Given the description of an element on the screen output the (x, y) to click on. 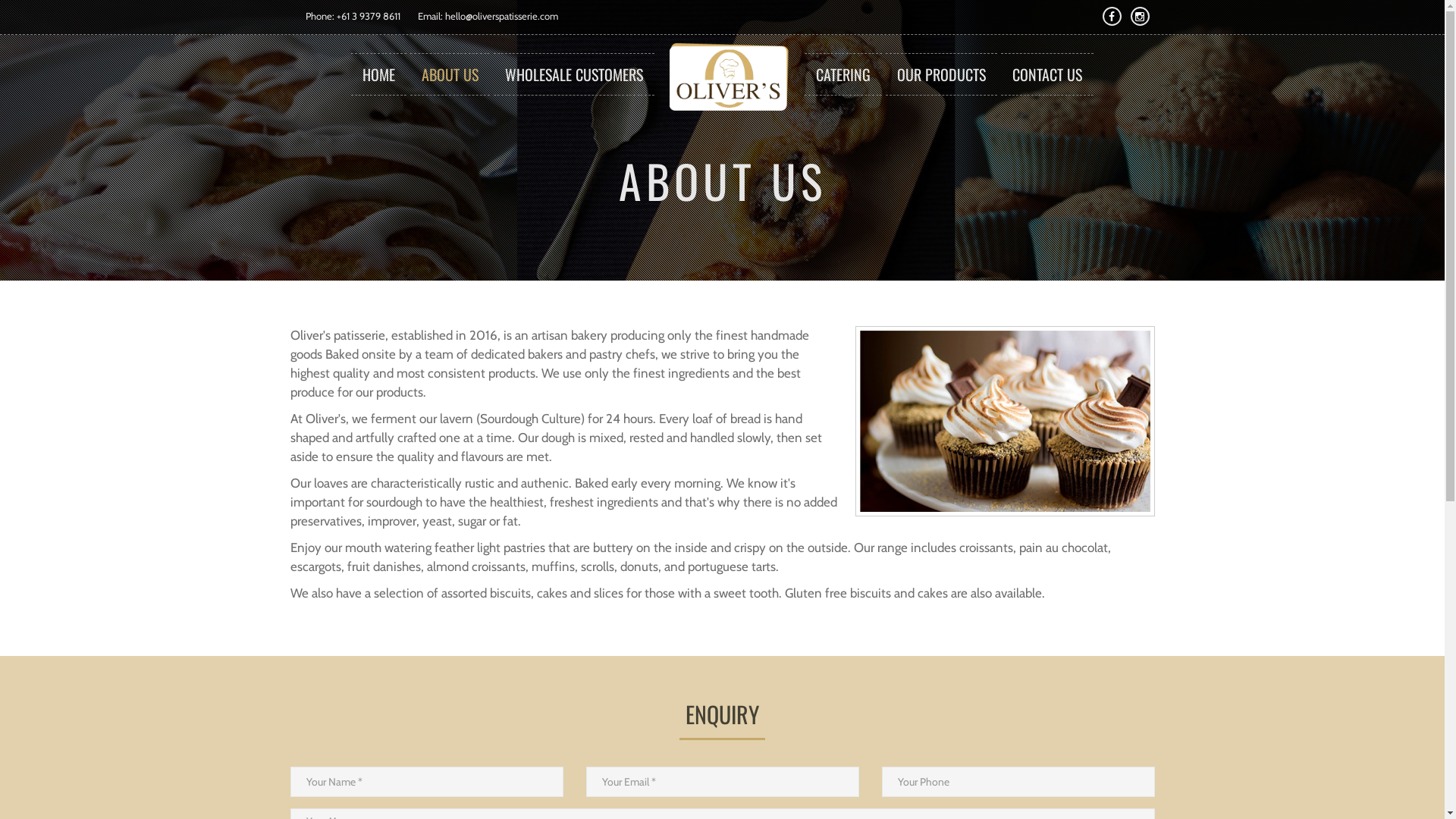
WHOLESALE CUSTOMERS Element type: text (573, 74)
hello@oliverspatisserie.com Element type: text (500, 15)
CATERING Element type: text (842, 74)
CONTACT US Element type: text (1047, 74)
HOME Element type: text (378, 74)
OUR PRODUCTS Element type: text (941, 74)
ABOUT US Element type: text (449, 74)
